Given the description of an element on the screen output the (x, y) to click on. 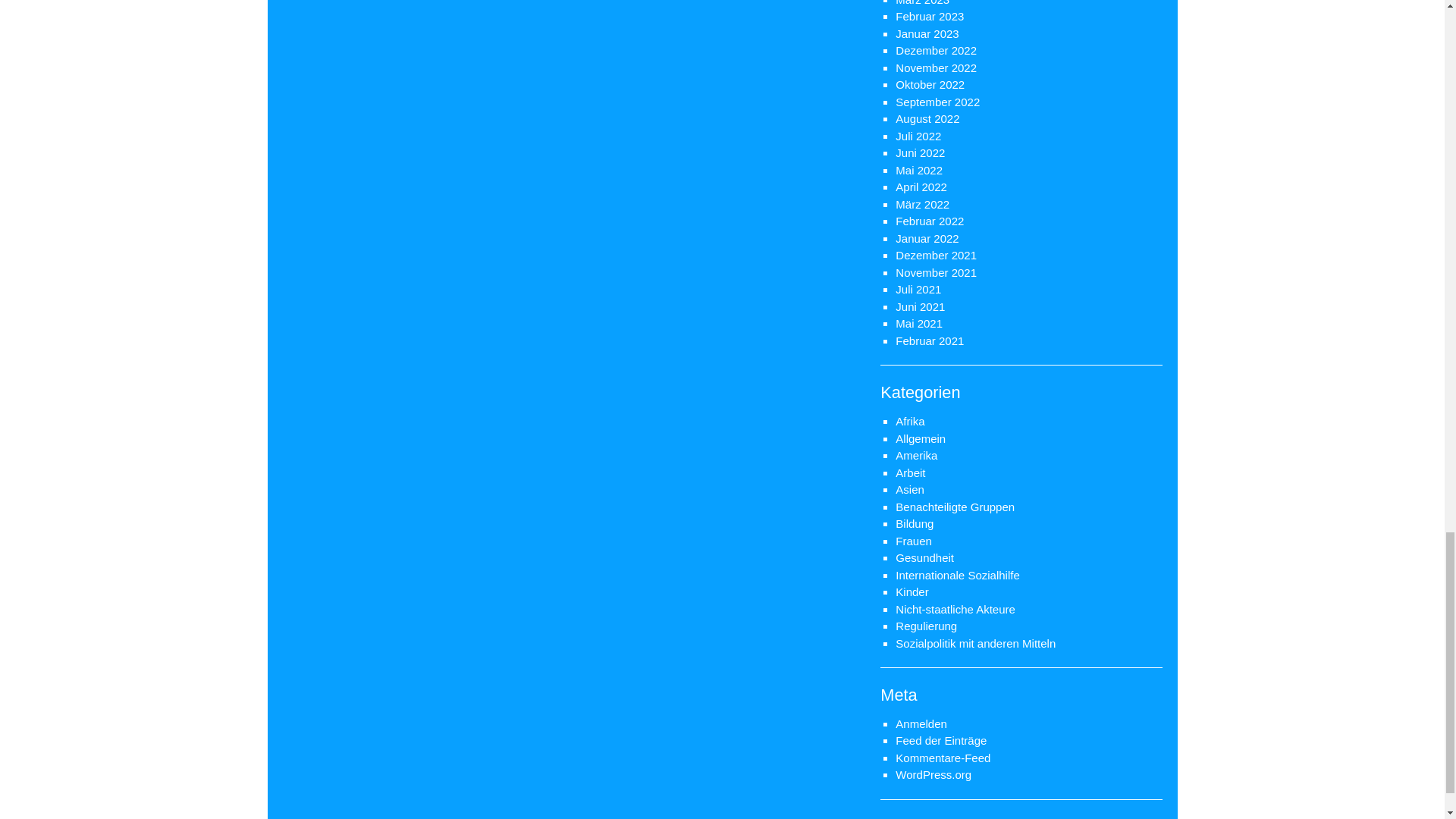
Dezember 2022 (935, 50)
Januar 2023 (926, 33)
Februar 2023 (929, 15)
